Given the description of an element on the screen output the (x, y) to click on. 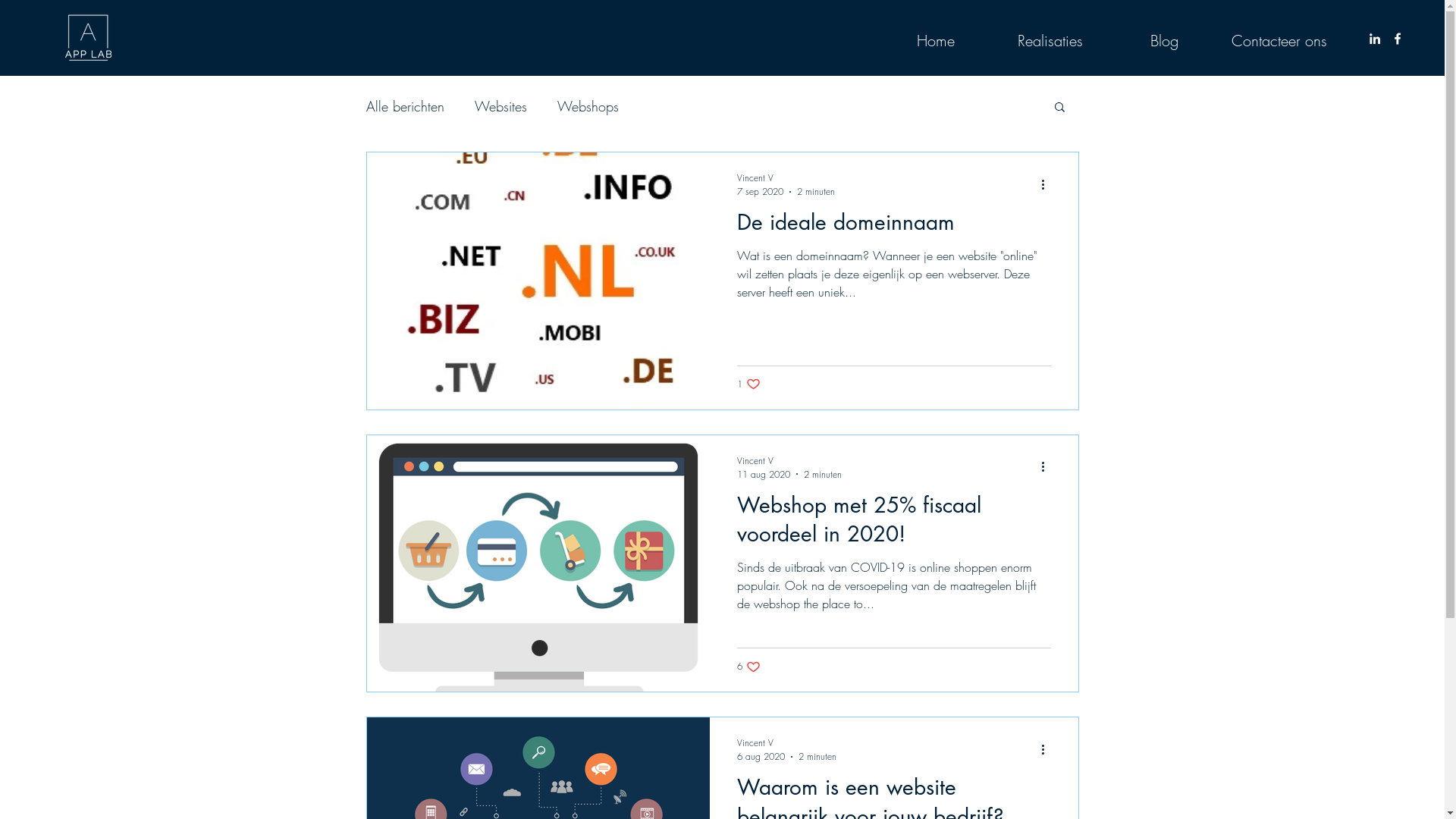
Webshops Element type: text (587, 106)
Alle berichten Element type: text (404, 106)
Realisaties Element type: text (1050, 40)
6 vind-ik-leuks. Post is niet als leuk gemarkeerd
6 Element type: text (748, 666)
Websites Element type: text (500, 106)
De ideale domeinnaam Element type: text (894, 226)
Blog Element type: text (1163, 40)
Contacteer ons Element type: text (1277, 40)
Home Element type: text (936, 40)
Webshop met 25% fiscaal voordeel in 2020! Element type: text (894, 523)
1 vind-ik-leuk. Post is niet als leuk gemarkeerd
1 Element type: text (748, 383)
